Given the description of an element on the screen output the (x, y) to click on. 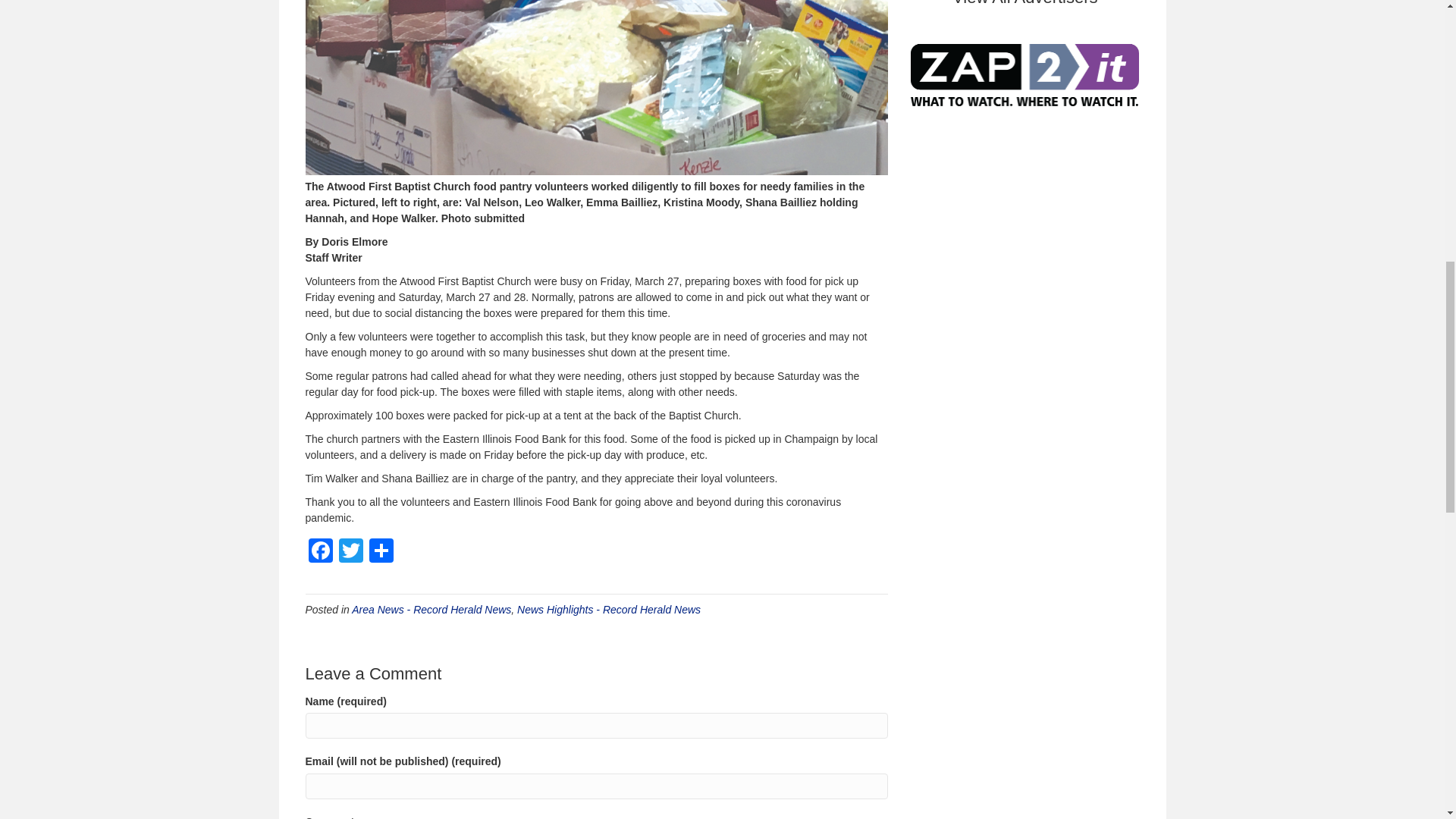
Twitter (349, 552)
Facebook (319, 552)
